Given the description of an element on the screen output the (x, y) to click on. 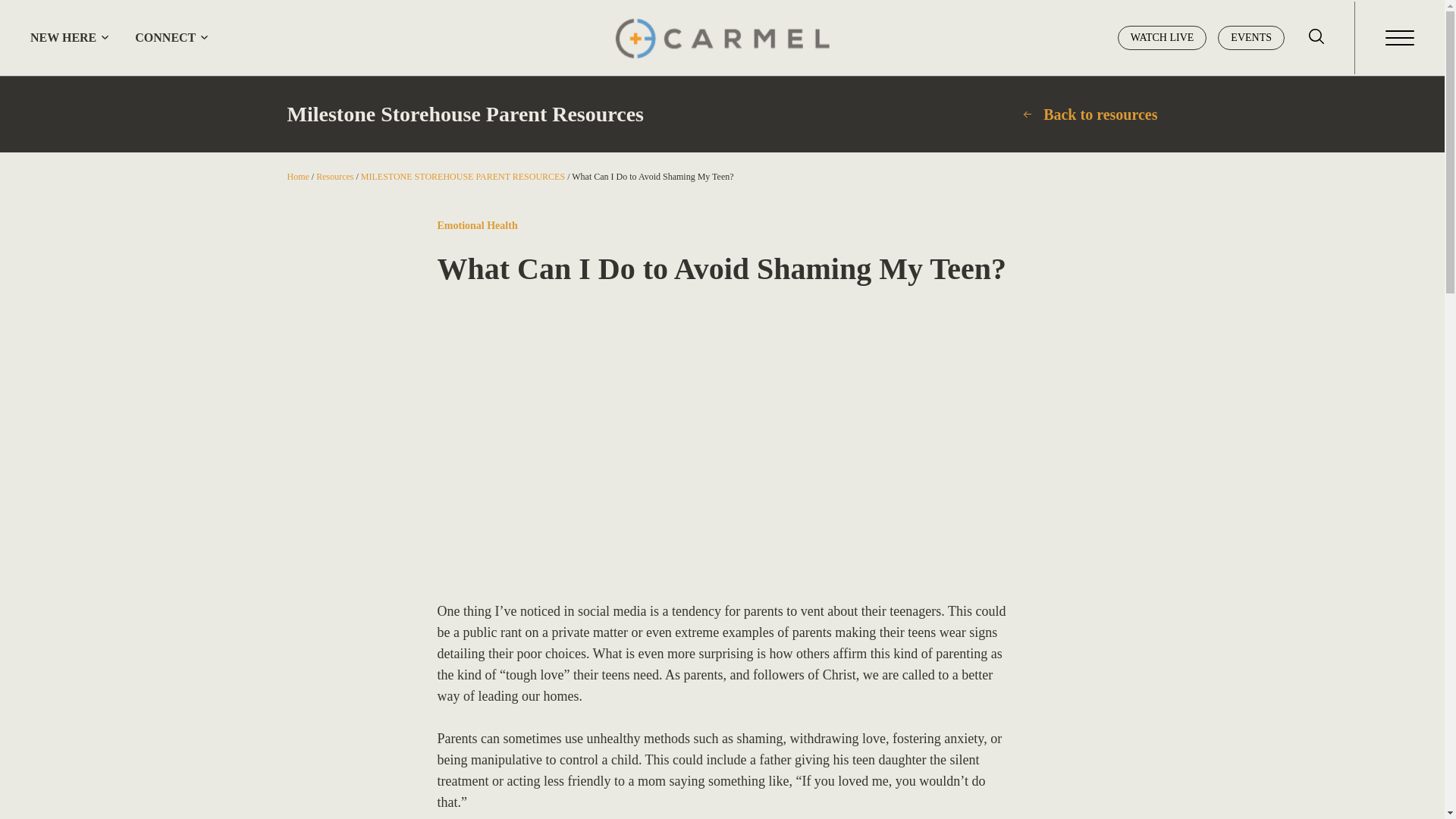
CONNECT (165, 37)
NEW HERE (63, 37)
EVENTS (1250, 37)
WATCH LIVE (1162, 37)
